Given the description of an element on the screen output the (x, y) to click on. 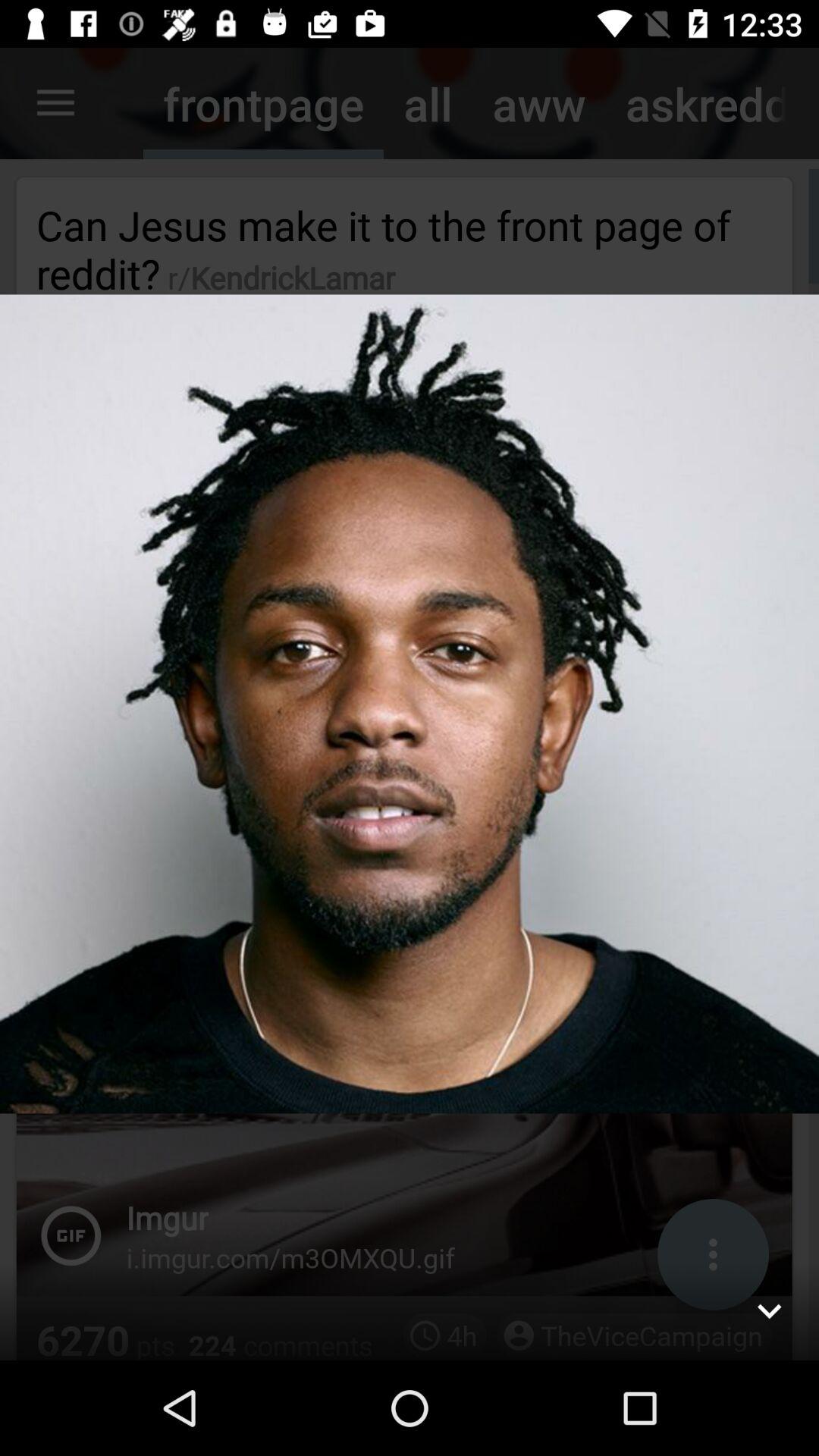
hide the photo (769, 1310)
